Given the description of an element on the screen output the (x, y) to click on. 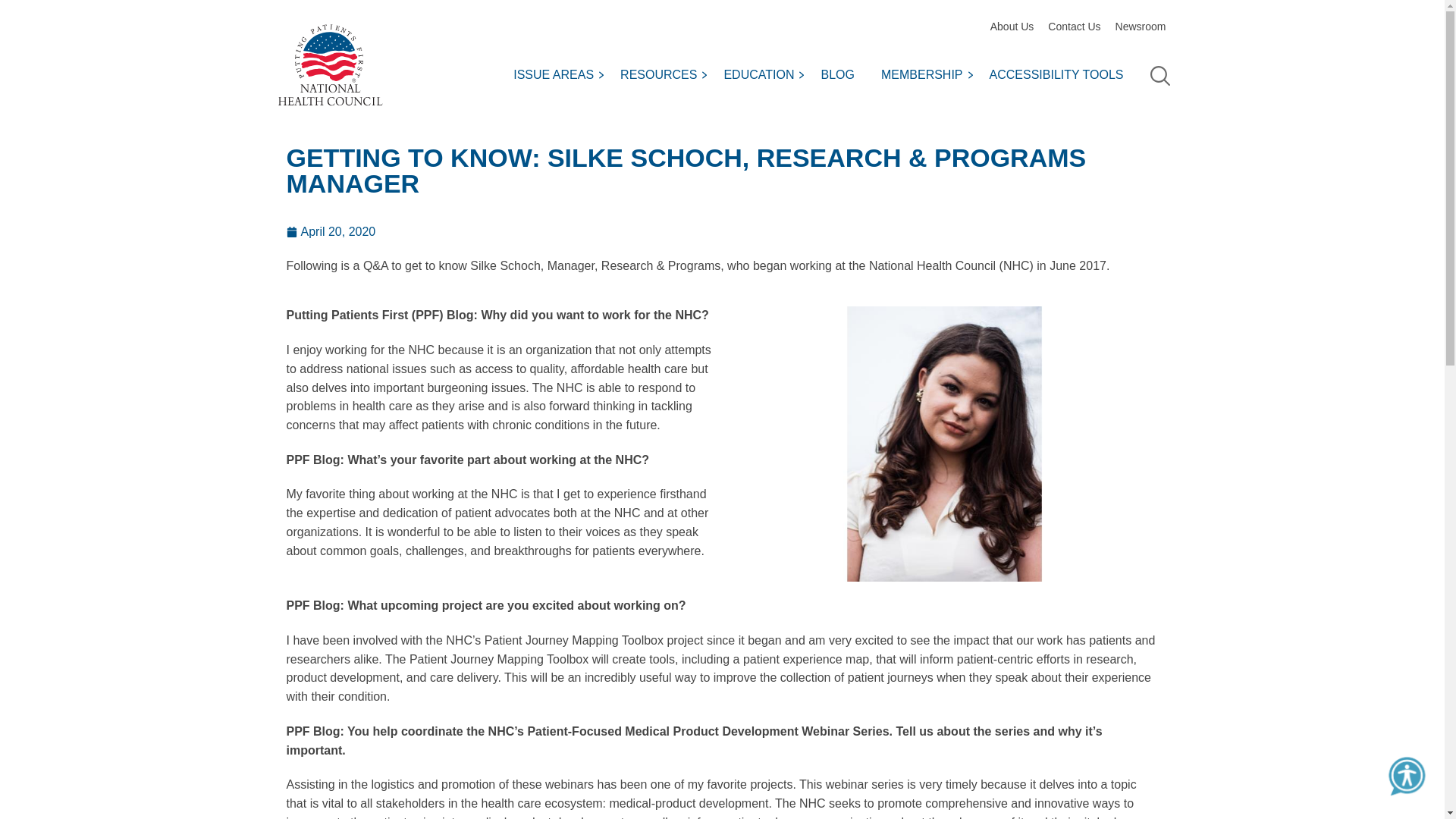
ISSUE AREAS (559, 75)
About Us (1014, 27)
EDUCATION (764, 75)
National Health Council (329, 62)
BLOG (842, 75)
Search (1159, 75)
ACCESSIBILITY TOOLS (1062, 75)
MEMBERSHIP (927, 75)
Newsroom (1142, 27)
Contact Us (1075, 27)
RESOURCES (663, 75)
